Given the description of an element on the screen output the (x, y) to click on. 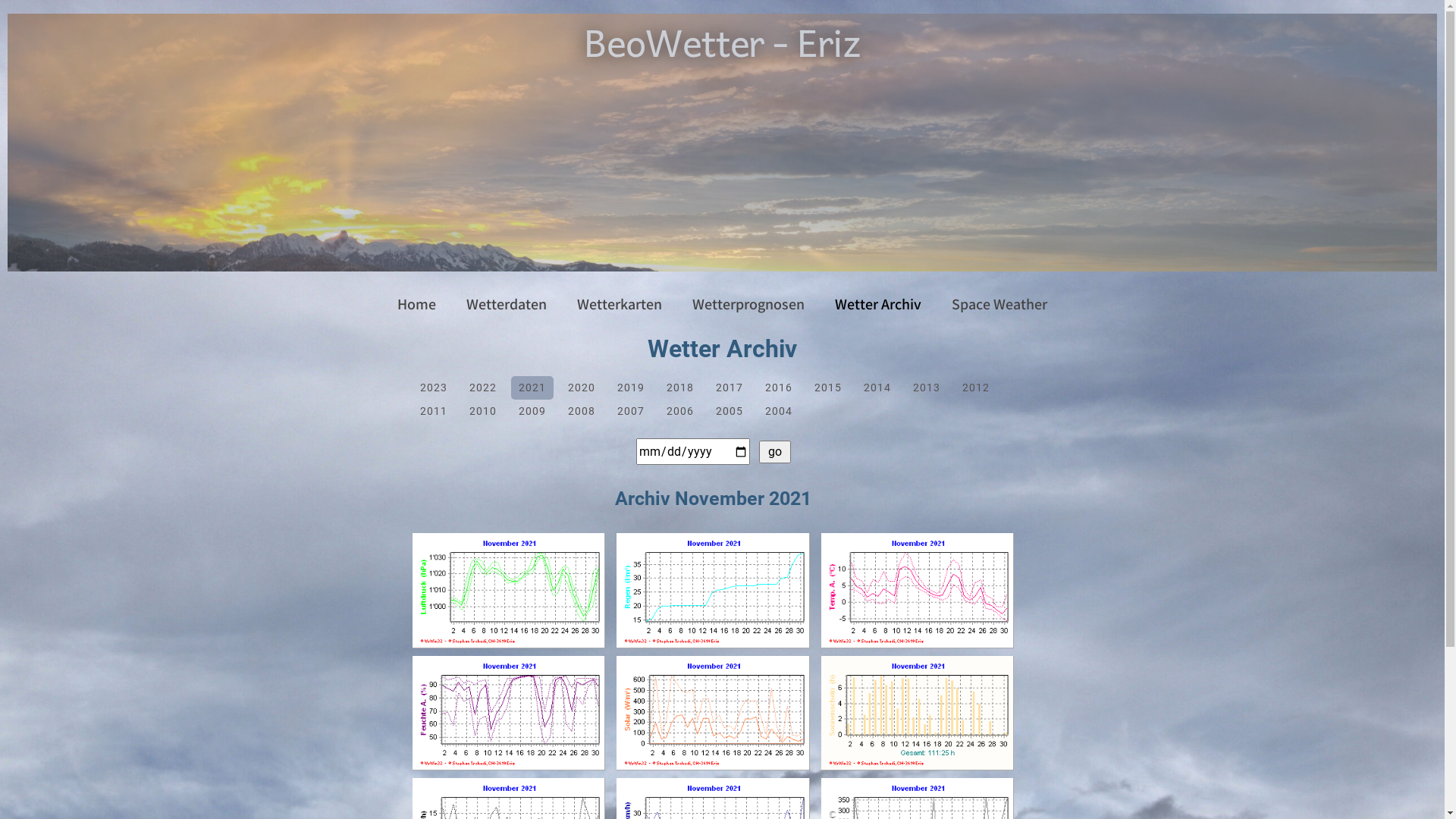
Wetterprognosen Element type: text (748, 303)
2023 Element type: text (433, 387)
2016 Element type: text (778, 387)
2007 Element type: text (630, 411)
2014 Element type: text (877, 387)
Home Element type: text (416, 303)
2004 Element type: text (778, 411)
2019 Element type: text (630, 387)
2005 Element type: text (729, 411)
2008 Element type: text (581, 411)
2012 Element type: text (975, 387)
2018 Element type: text (679, 387)
2020 Element type: text (581, 387)
 go  Element type: text (774, 450)
Space Weather Element type: text (999, 303)
2010 Element type: text (482, 411)
2006 Element type: text (679, 411)
2017 Element type: text (729, 387)
2022 Element type: text (482, 387)
2013 Element type: text (926, 387)
2011 Element type: text (433, 411)
2009 Element type: text (532, 411)
Wetterkarten Element type: text (619, 303)
2021 Element type: text (532, 387)
Wetter Archiv Element type: text (877, 303)
2015 Element type: text (827, 387)
Wetterdaten Element type: text (506, 303)
